Given the description of an element on the screen output the (x, y) to click on. 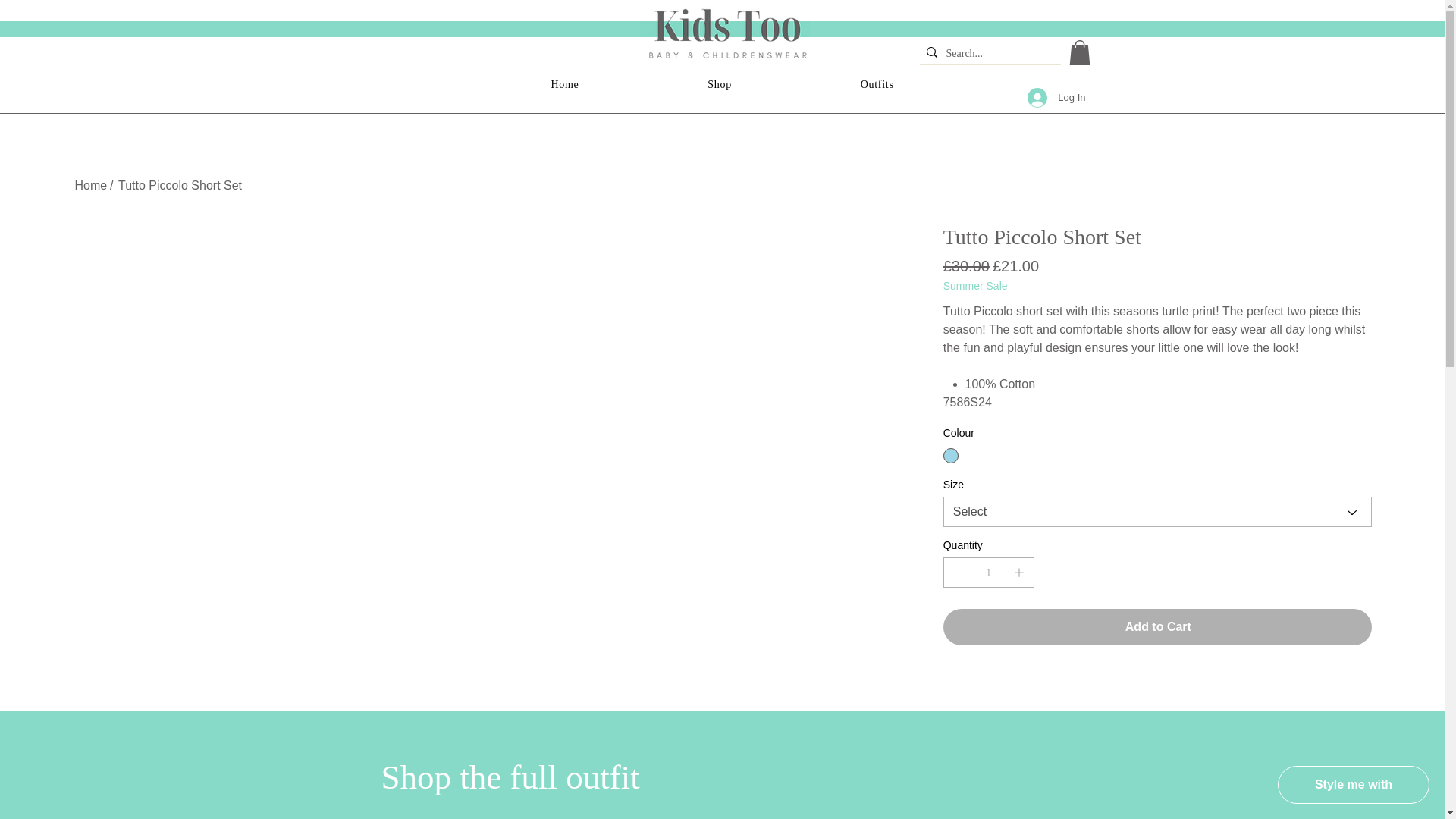
Add to Cart (1157, 627)
Home (564, 84)
Log In (1056, 97)
Outfits (877, 84)
Home (90, 185)
Shop (719, 84)
Tutto Piccolo Short Set (179, 185)
1 (988, 572)
